Given the description of an element on the screen output the (x, y) to click on. 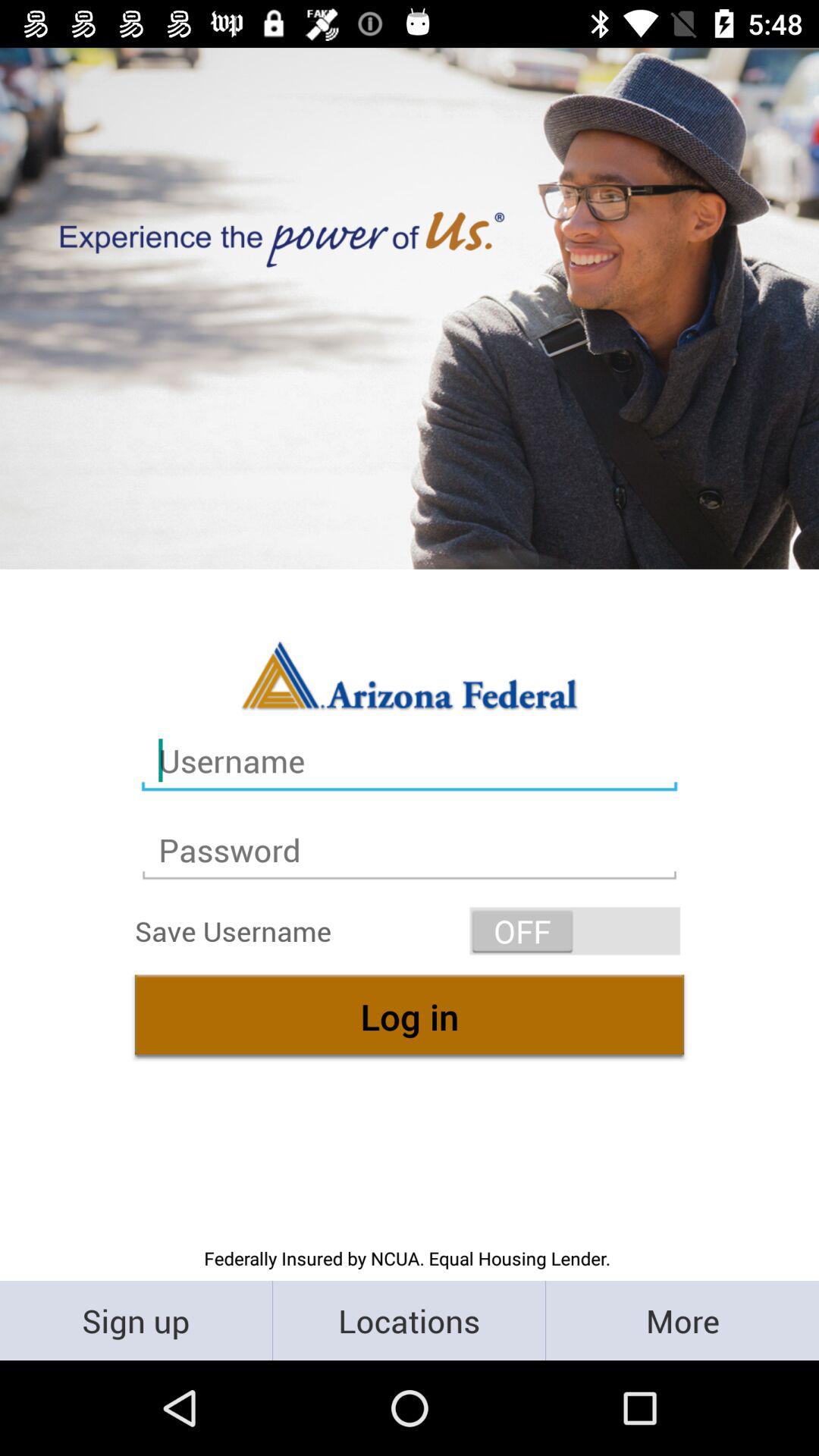
turn off icon on the right (574, 930)
